Given the description of an element on the screen output the (x, y) to click on. 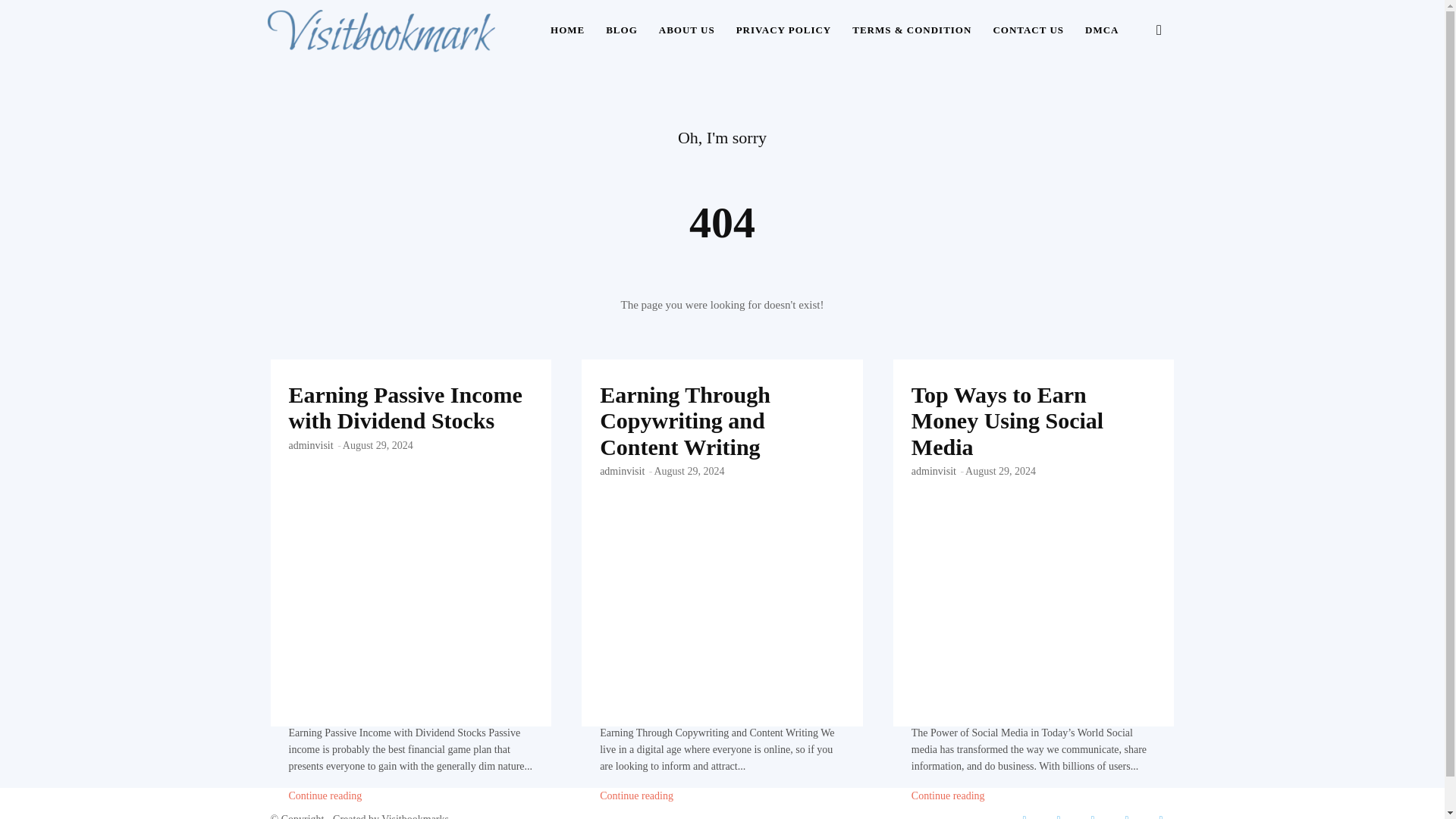
Top Ways to Earn Money Using Social Media (1007, 420)
Earning Passive Income with Dividend Stocks (410, 443)
Continue reading (635, 796)
DMCA (1101, 30)
Continue reading (324, 796)
Continue reading (635, 796)
Search (1134, 102)
adminvisit (622, 471)
Continue reading (324, 796)
PRIVACY POLICY (784, 30)
